Given the description of an element on the screen output the (x, y) to click on. 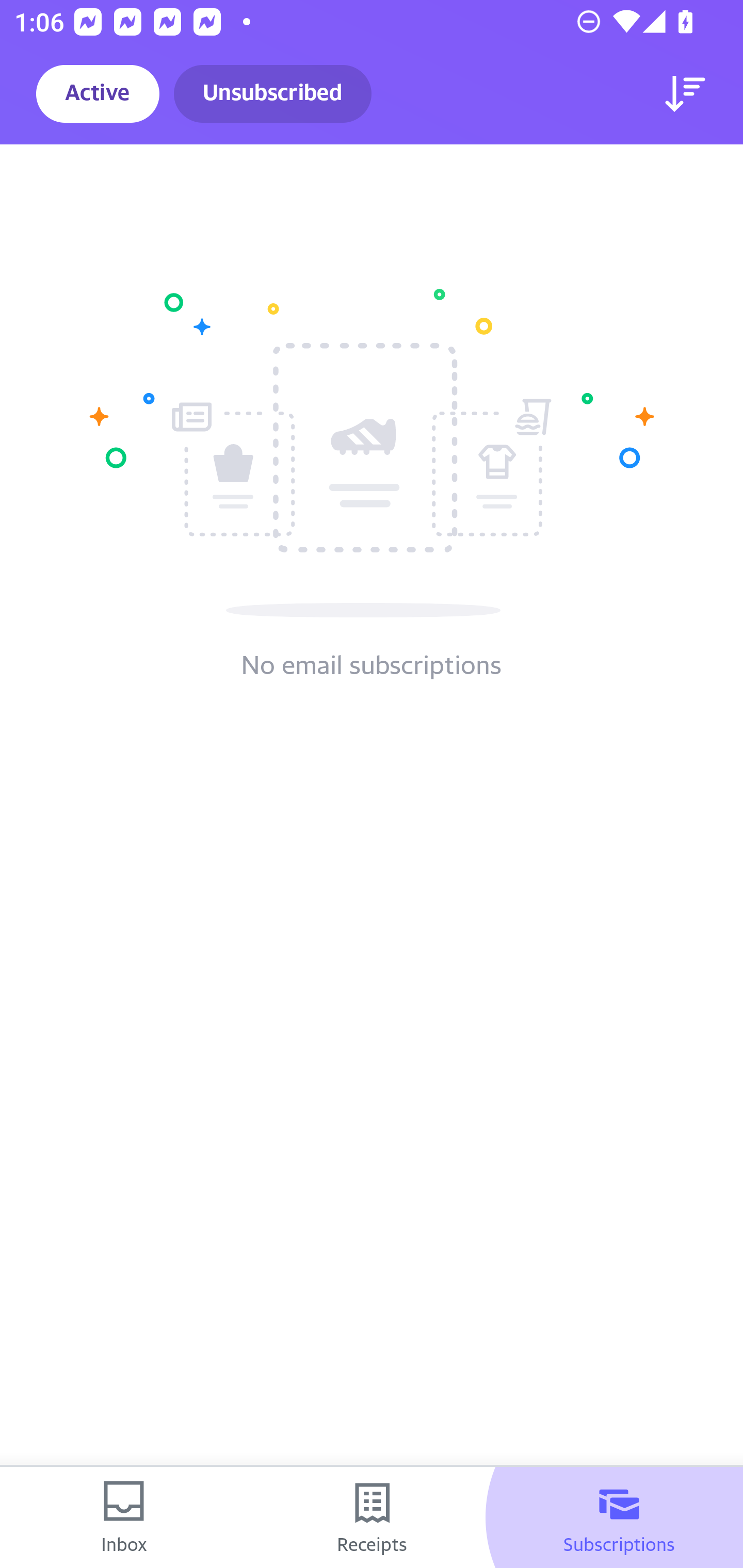
Unsubscribed (272, 93)
Sort (684, 93)
Inbox (123, 1517)
Receipts (371, 1517)
Subscriptions (619, 1517)
